Given the description of an element on the screen output the (x, y) to click on. 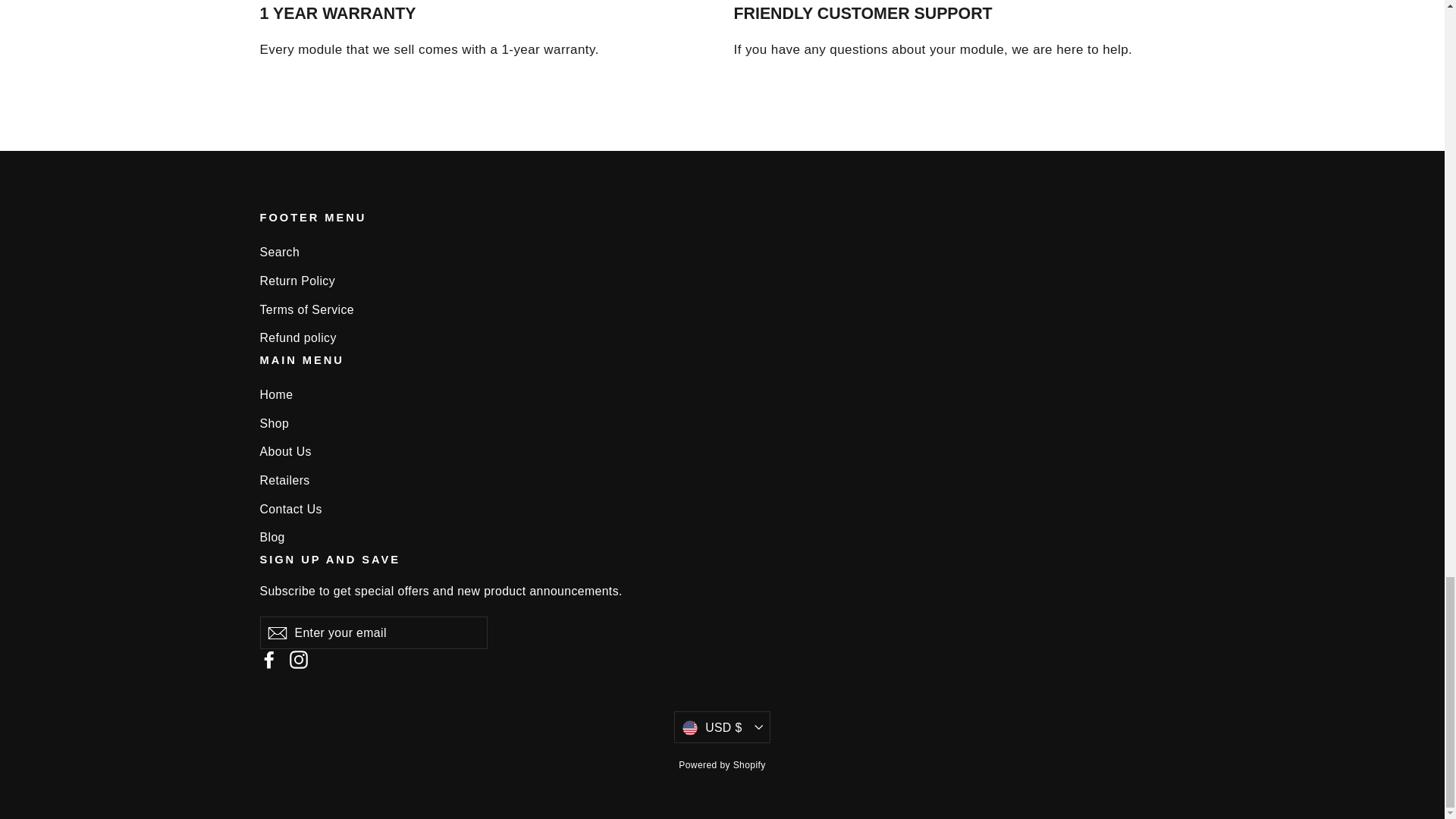
After Later Audio on Instagram (298, 659)
